Given the description of an element on the screen output the (x, y) to click on. 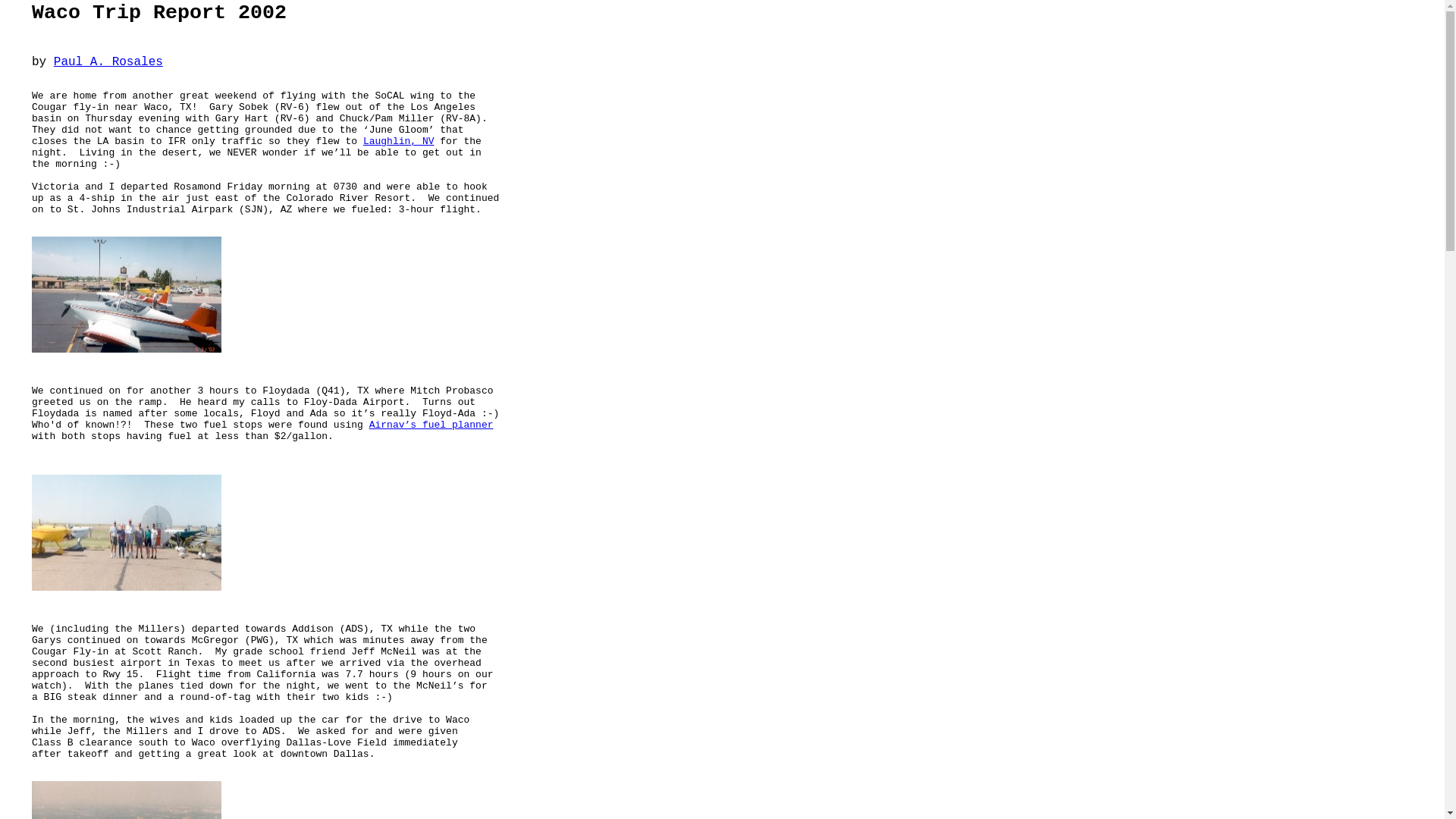
Paul A. Rosales (108, 61)
Laughlin, NV (397, 141)
